Given the description of an element on the screen output the (x, y) to click on. 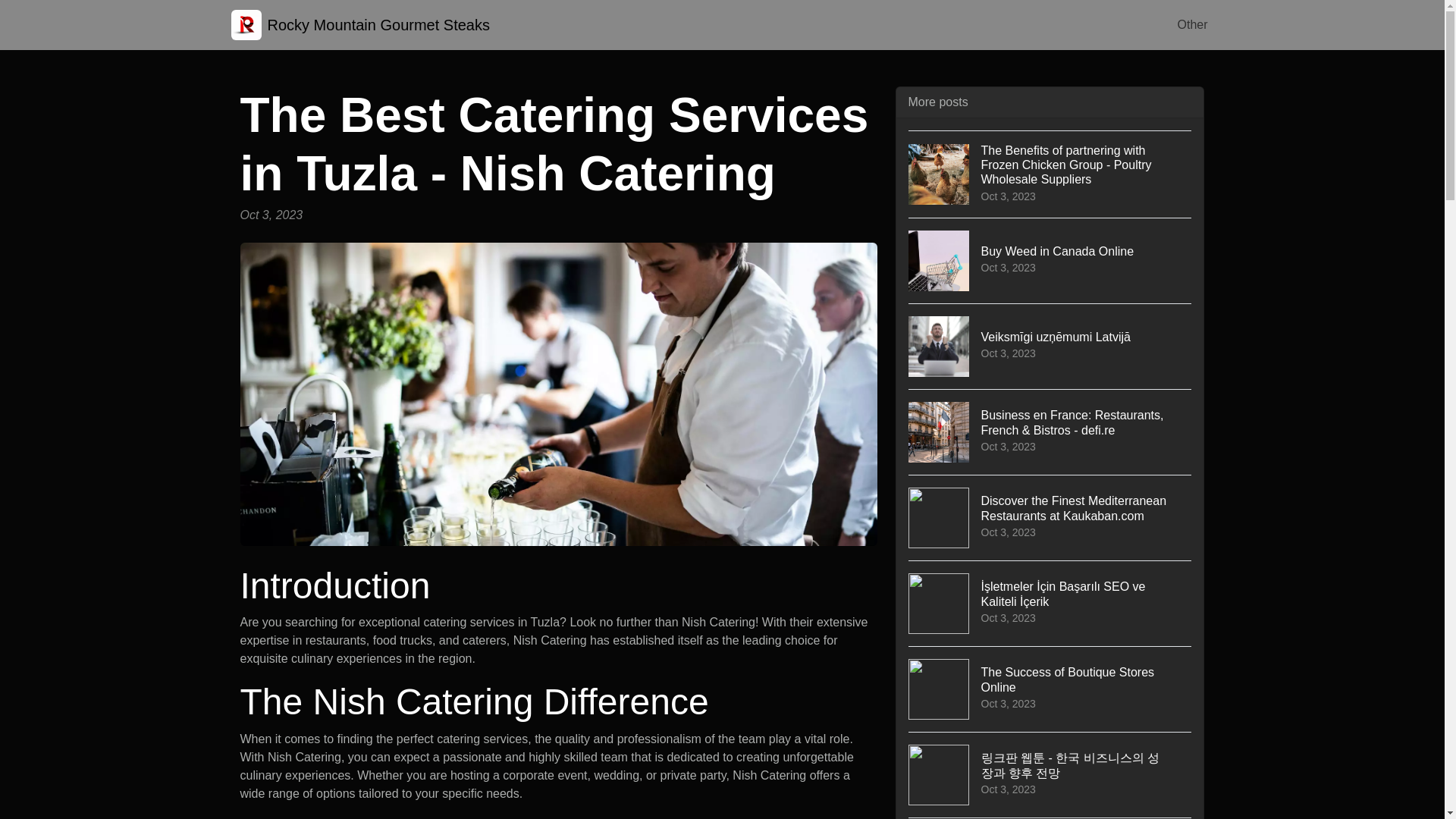
Other (1050, 260)
Rocky Mountain Gourmet Steaks (1191, 24)
